Given the description of an element on the screen output the (x, y) to click on. 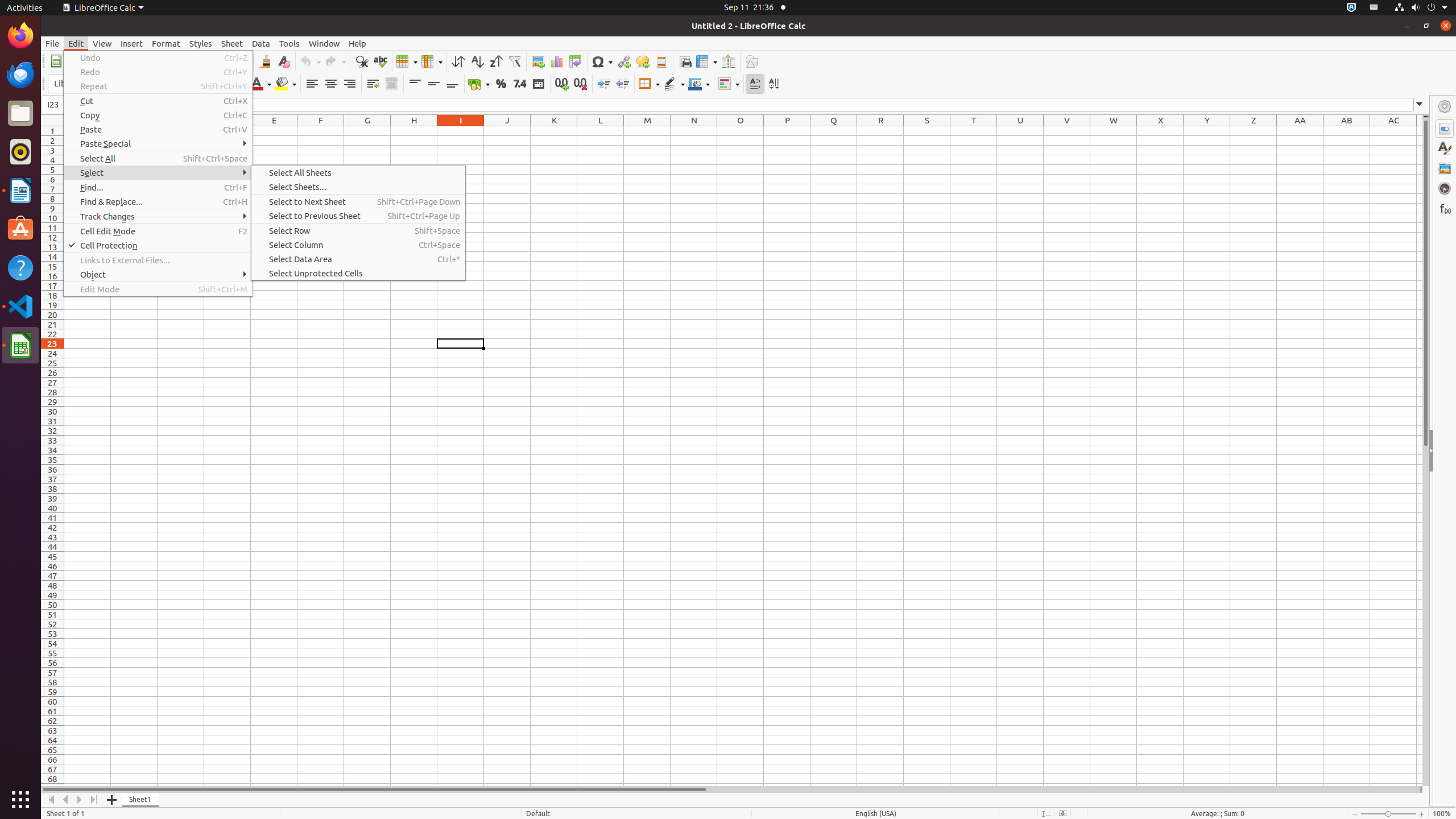
Align Left Element type: push-button (311, 83)
Navigator Element type: radio-button (1444, 188)
Symbol Element type: push-button (601, 61)
AD1 Element type: table-cell (1419, 130)
